Given the description of an element on the screen output the (x, y) to click on. 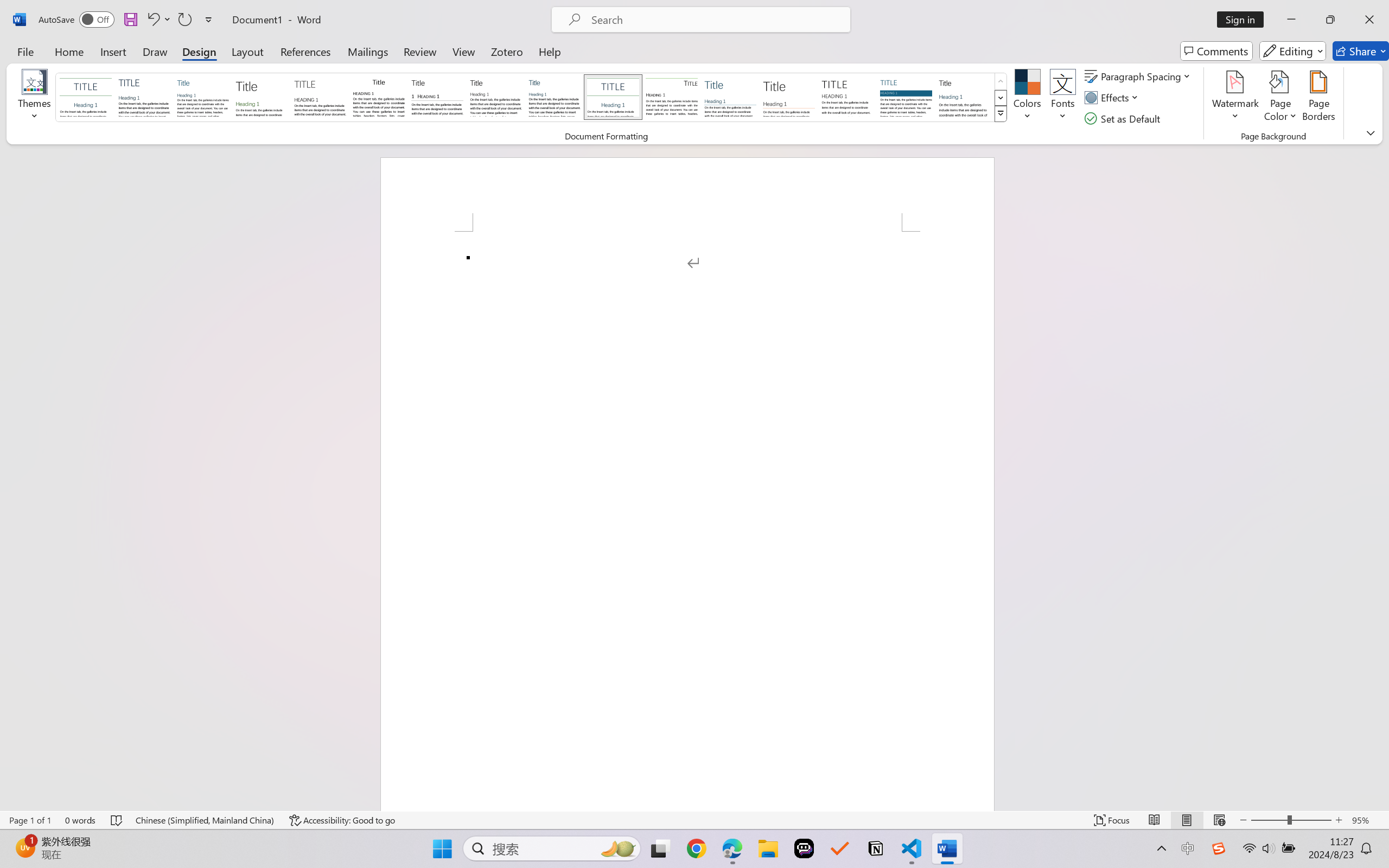
Lines (Simple) (730, 96)
Undo Apply Quick Style Set (158, 19)
Shaded (905, 96)
Paragraph Spacing (1139, 75)
Language Chinese (Simplified, Mainland China) (205, 819)
Basic (Elegant) (144, 96)
